Given the description of an element on the screen output the (x, y) to click on. 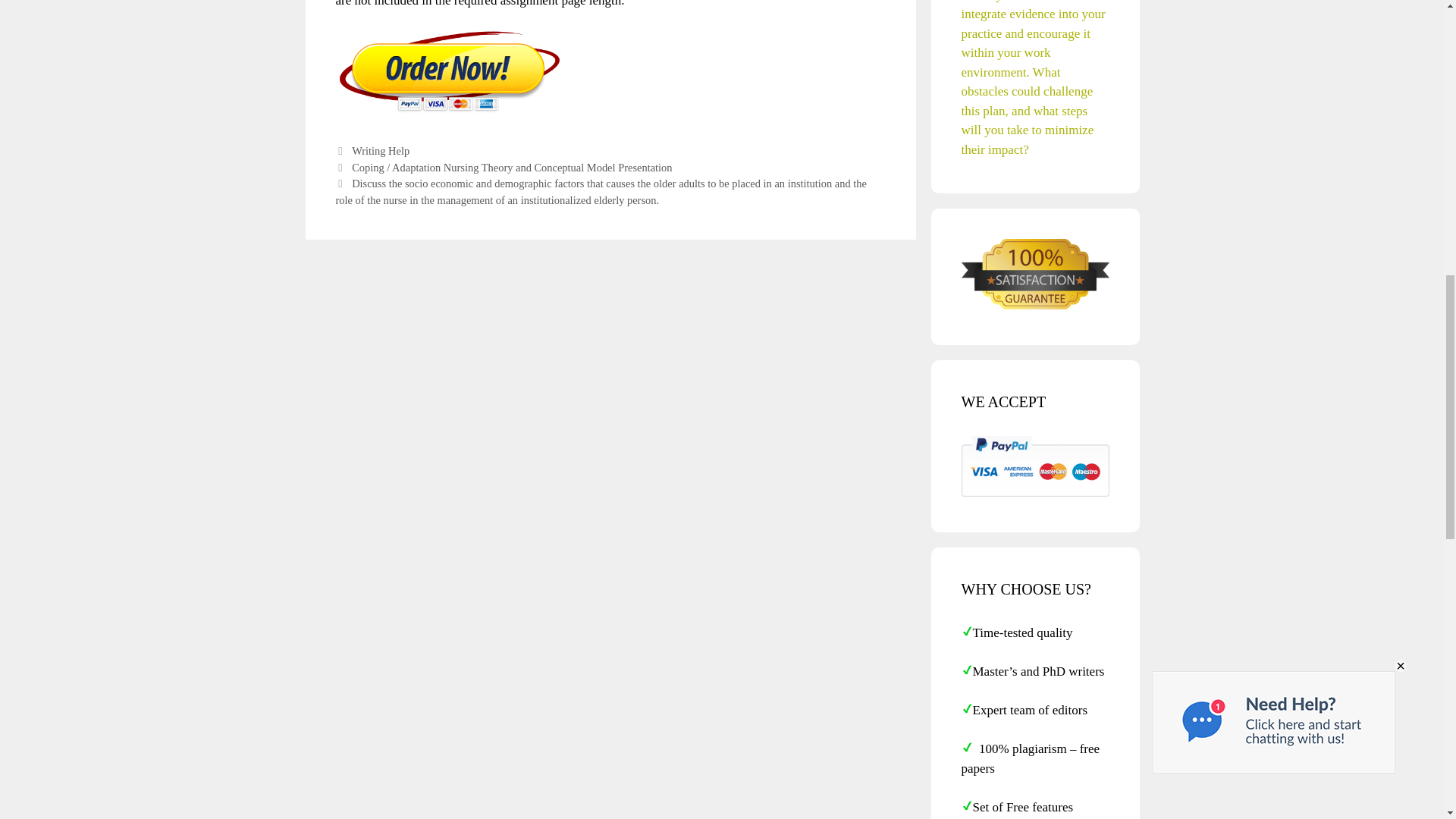
Next (600, 191)
Writing Help (380, 150)
Click to Order (448, 110)
Previous (502, 167)
